Given the description of an element on the screen output the (x, y) to click on. 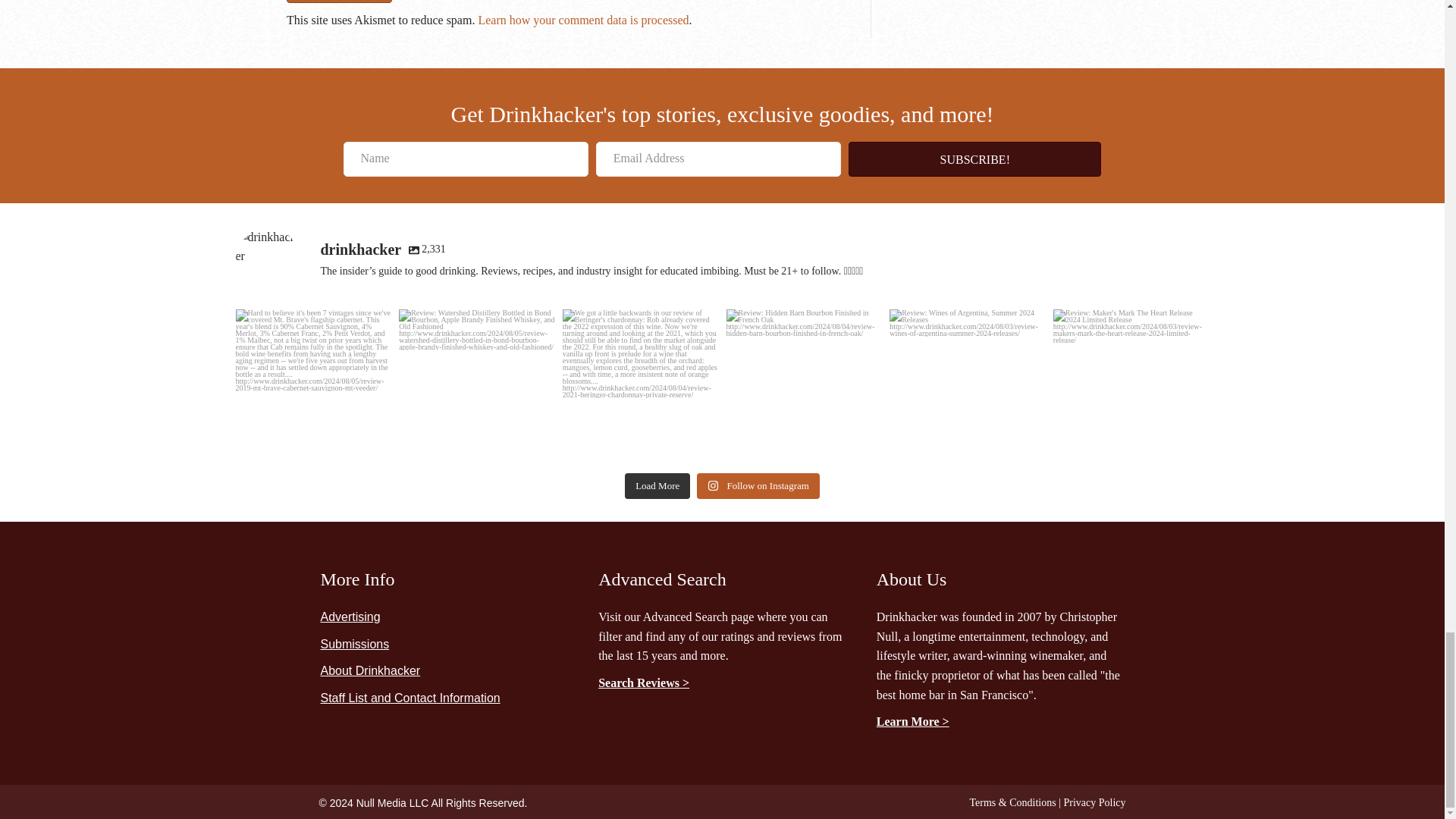
Submit Comment (338, 1)
